Given the description of an element on the screen output the (x, y) to click on. 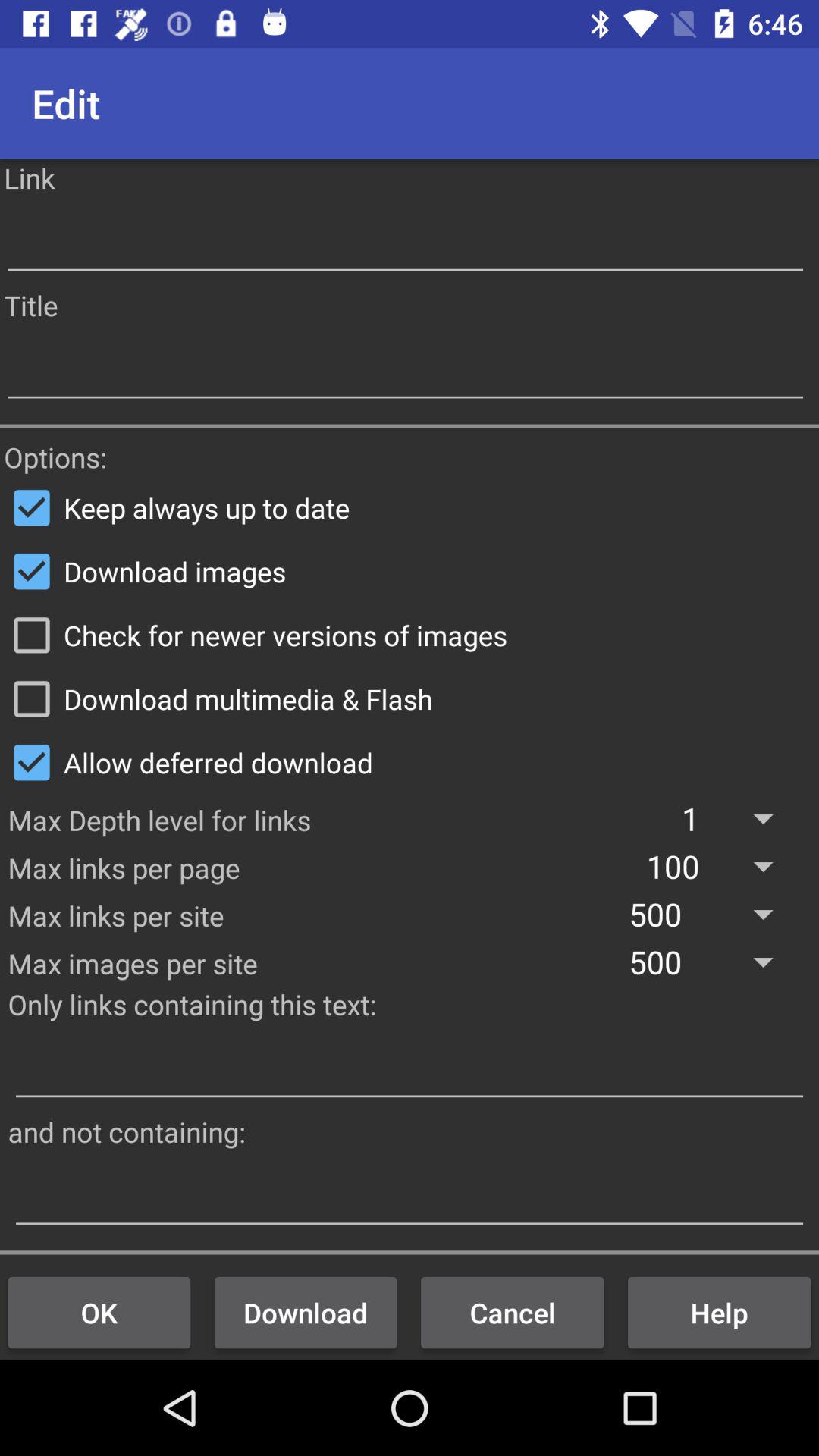
exclude words from search (409, 1195)
